Given the description of an element on the screen output the (x, y) to click on. 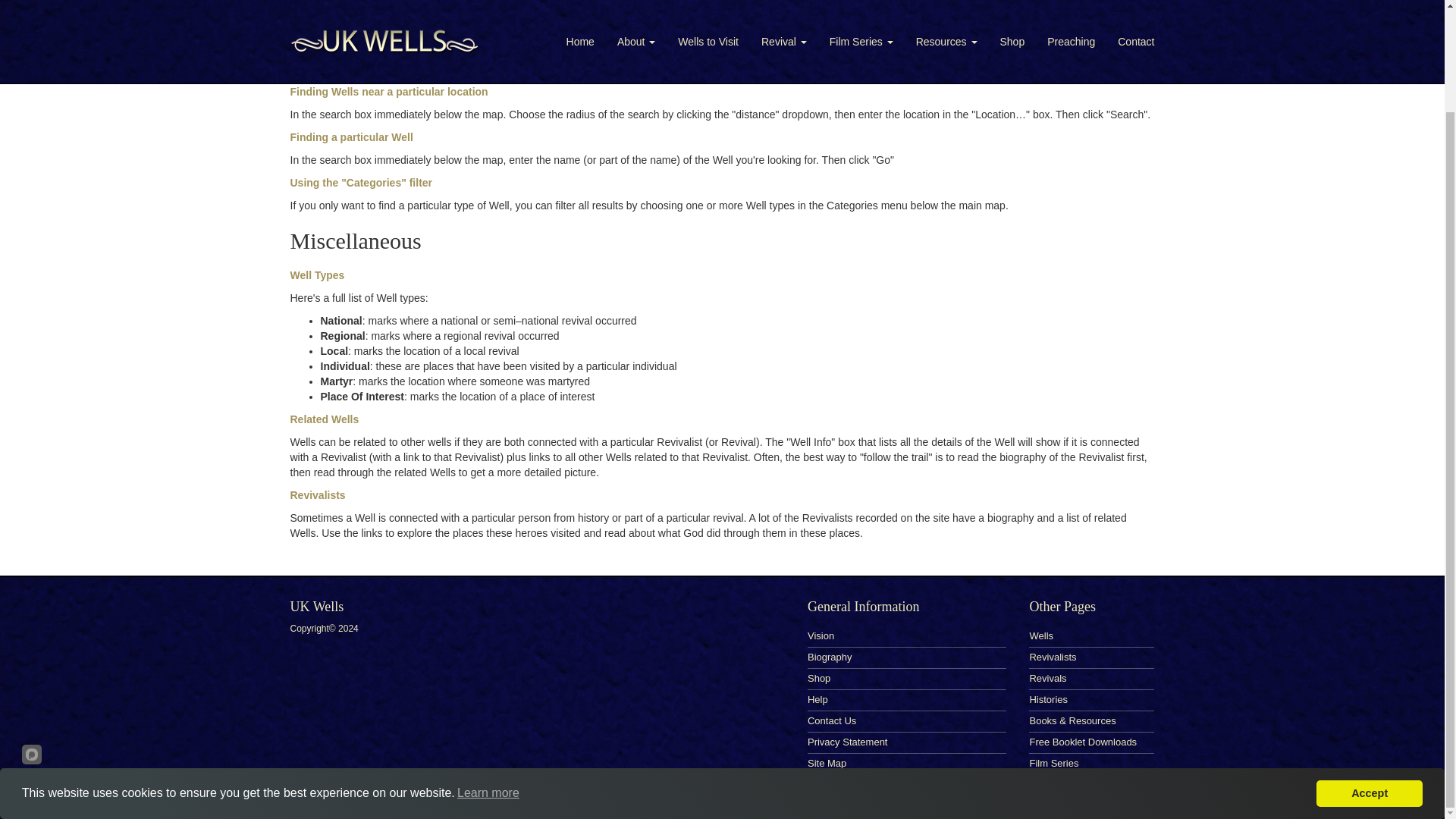
Free Booklet Downloads (1083, 741)
Vision (821, 635)
Privacy Statement (848, 741)
Histories (1048, 699)
Film Series (1053, 763)
Biography (829, 656)
Revivals (1047, 677)
Accept (1369, 674)
Preaching (1051, 784)
Revivalists (1052, 656)
